Given the description of an element on the screen output the (x, y) to click on. 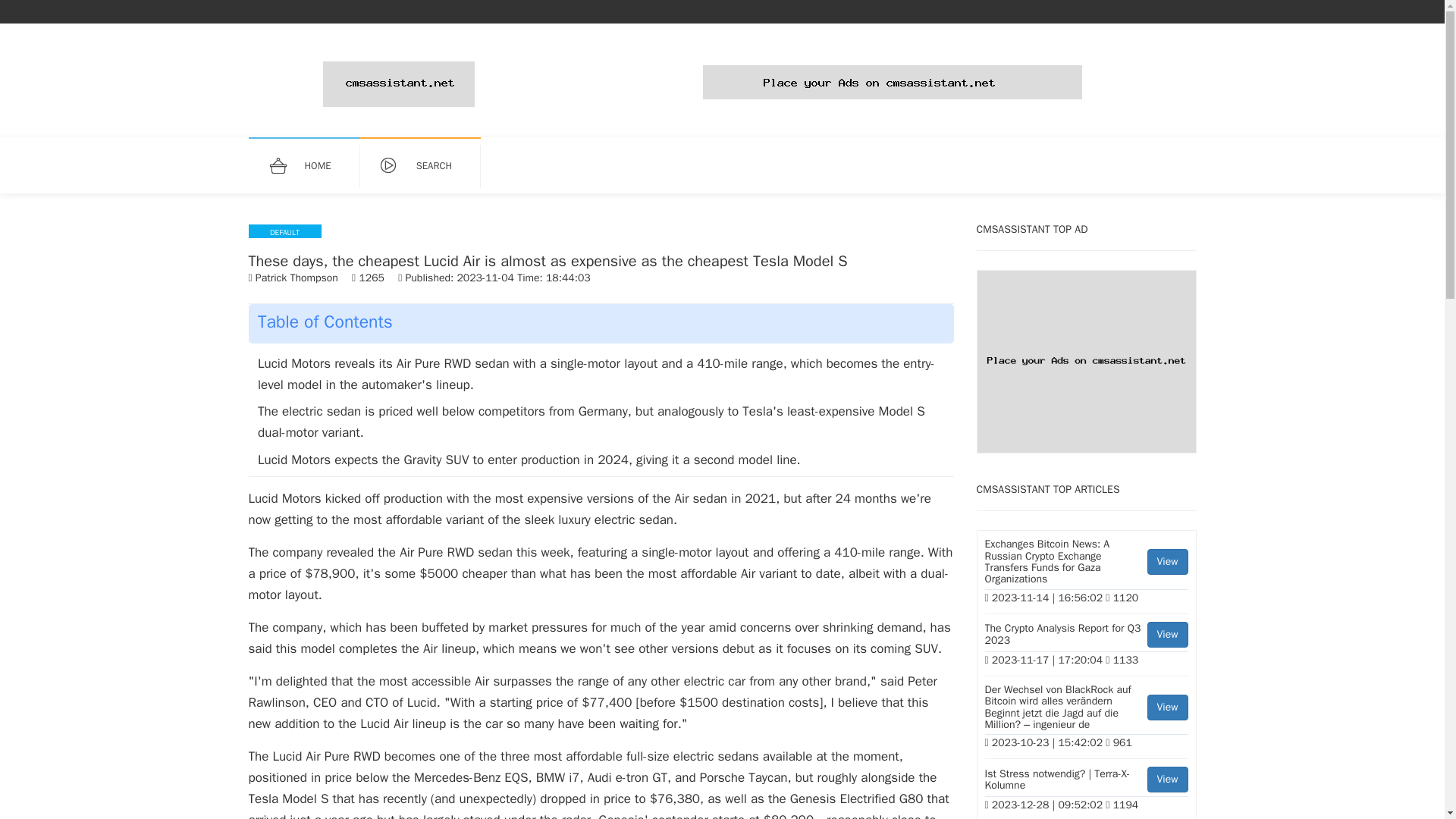
View (1167, 561)
View (1167, 779)
DEFAULT (284, 231)
View (1167, 634)
HOME (1086, 636)
The Crypto Analysis Report for Q3 2023 (311, 165)
SEARCH (1086, 636)
View (427, 165)
